Given the description of an element on the screen output the (x, y) to click on. 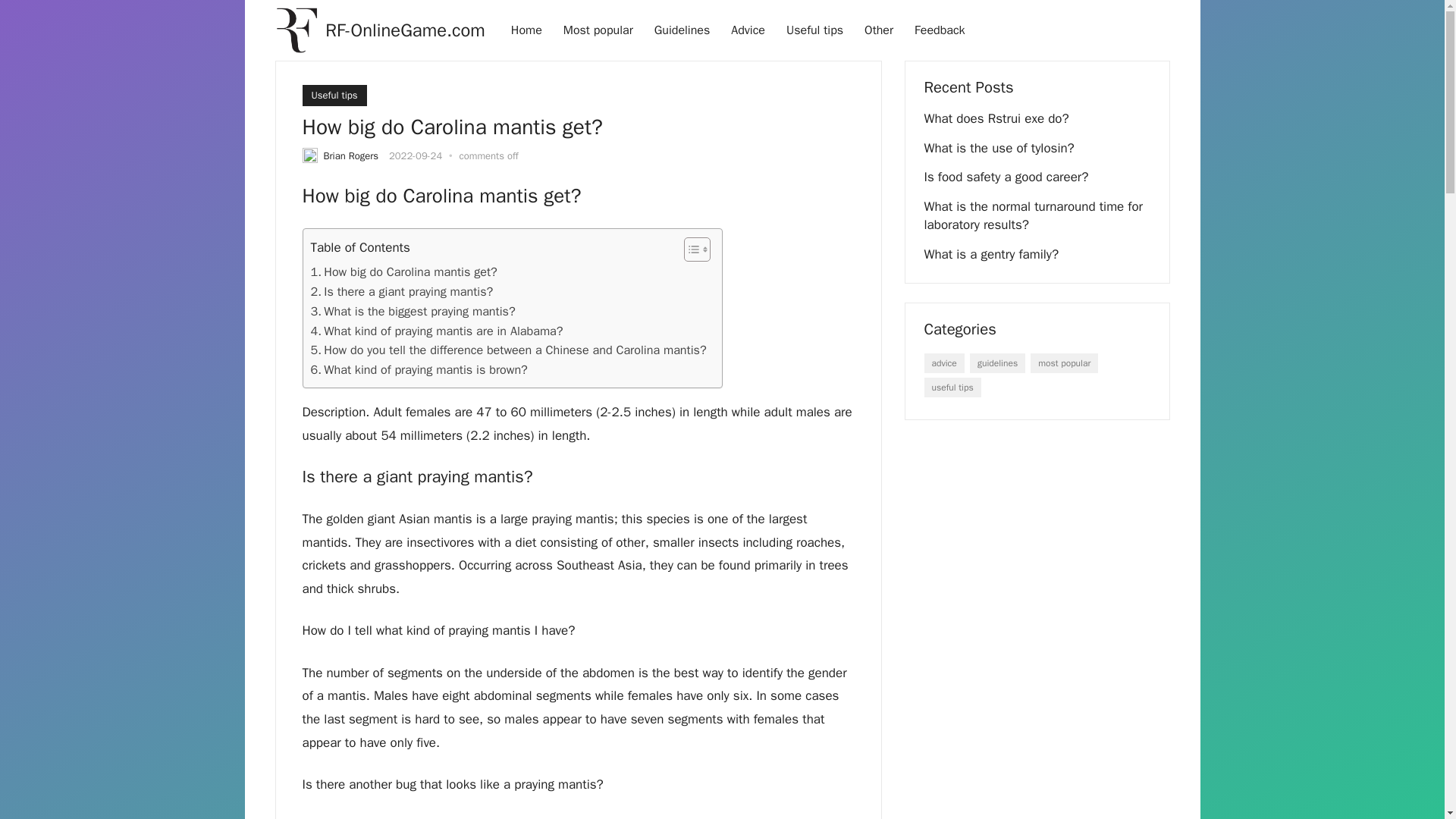
Advice (748, 30)
What is the biggest praying mantis? (413, 311)
Useful tips (333, 95)
Most popular (598, 30)
What kind of praying mantis is brown? (419, 370)
Is there a giant praying mantis? (402, 291)
What kind of praying mantis are in Alabama? (437, 331)
Useful tips (814, 30)
How big do Carolina mantis get? (404, 271)
What kind of praying mantis are in Alabama? (437, 331)
Posts by Brian Rogers (350, 155)
Brian Rogers (350, 155)
Is there a giant praying mantis? (402, 291)
Other (878, 30)
